Given the description of an element on the screen output the (x, y) to click on. 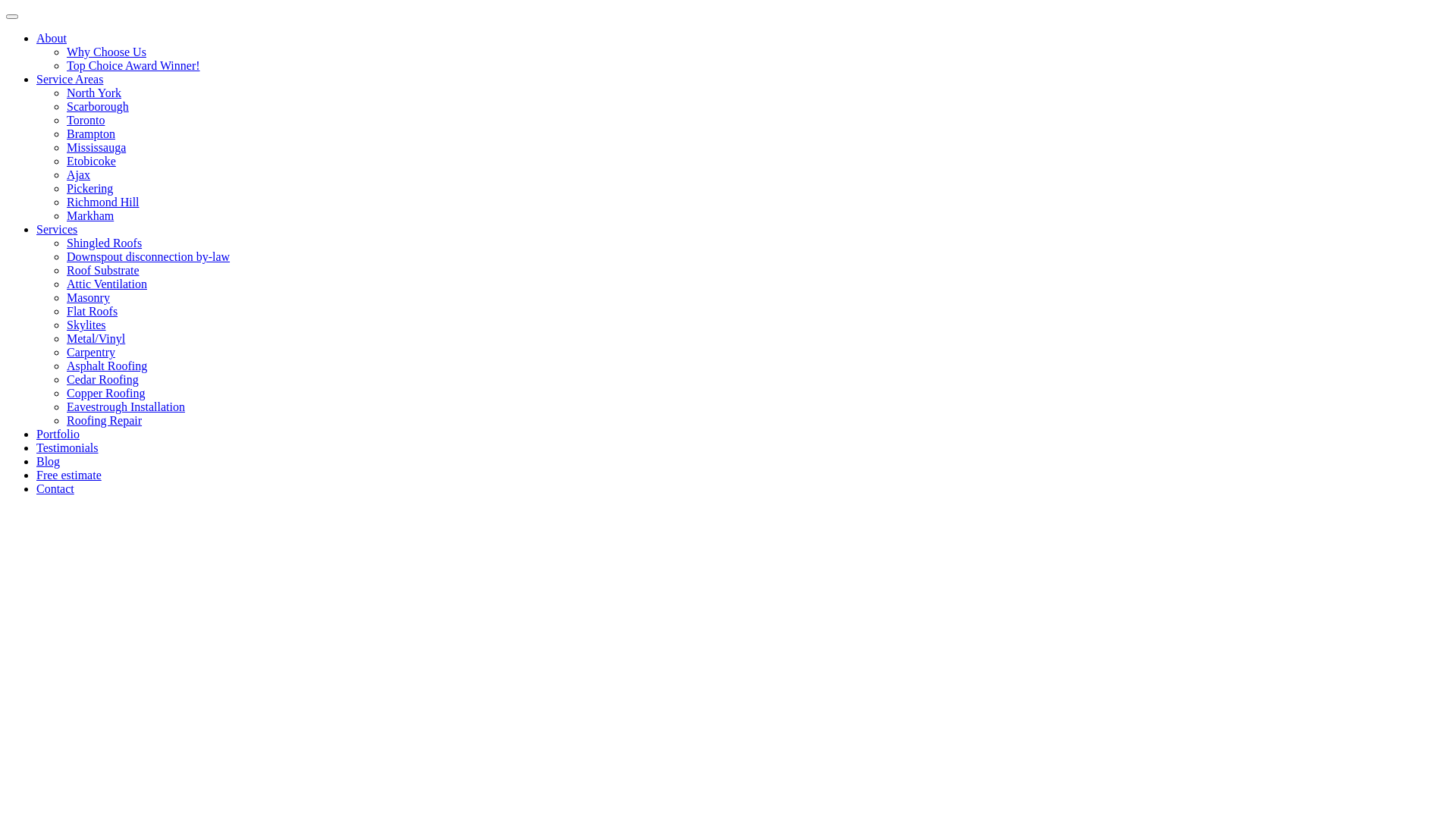
Services Element type: text (56, 228)
Toronto Element type: text (85, 119)
Portfolio Element type: text (57, 433)
Service Areas Element type: text (69, 78)
North York Element type: text (93, 92)
Asphalt Roofing Element type: text (106, 365)
Brampton Element type: text (90, 133)
Downspout disconnection by-law Element type: text (147, 256)
Top Choice Award Winner! Element type: text (133, 65)
Richmond Hill Element type: text (102, 201)
Roof Substrate Element type: text (102, 269)
Testimonials Element type: text (67, 447)
Mississauga Element type: text (95, 147)
Metal/Vinyl Element type: text (95, 338)
Free estimate Element type: text (68, 474)
Cedar Roofing Element type: text (102, 379)
Attic Ventilation Element type: text (106, 283)
About Element type: text (51, 37)
Blog Element type: text (47, 461)
Contact Element type: text (55, 488)
Copper Roofing Element type: text (105, 392)
Markham Element type: text (89, 215)
Flat Roofs Element type: text (91, 310)
Masonry Element type: text (87, 297)
Skylites Element type: text (86, 324)
Why Choose Us Element type: text (106, 51)
Ajax Element type: text (78, 174)
Etobicoke Element type: text (91, 160)
Eavestrough Installation Element type: text (125, 406)
Pickering Element type: text (89, 188)
Shingled Roofs Element type: text (103, 242)
Scarborough Element type: text (97, 106)
Carpentry Element type: text (90, 351)
Roofing Repair Element type: text (103, 420)
